Given the description of an element on the screen output the (x, y) to click on. 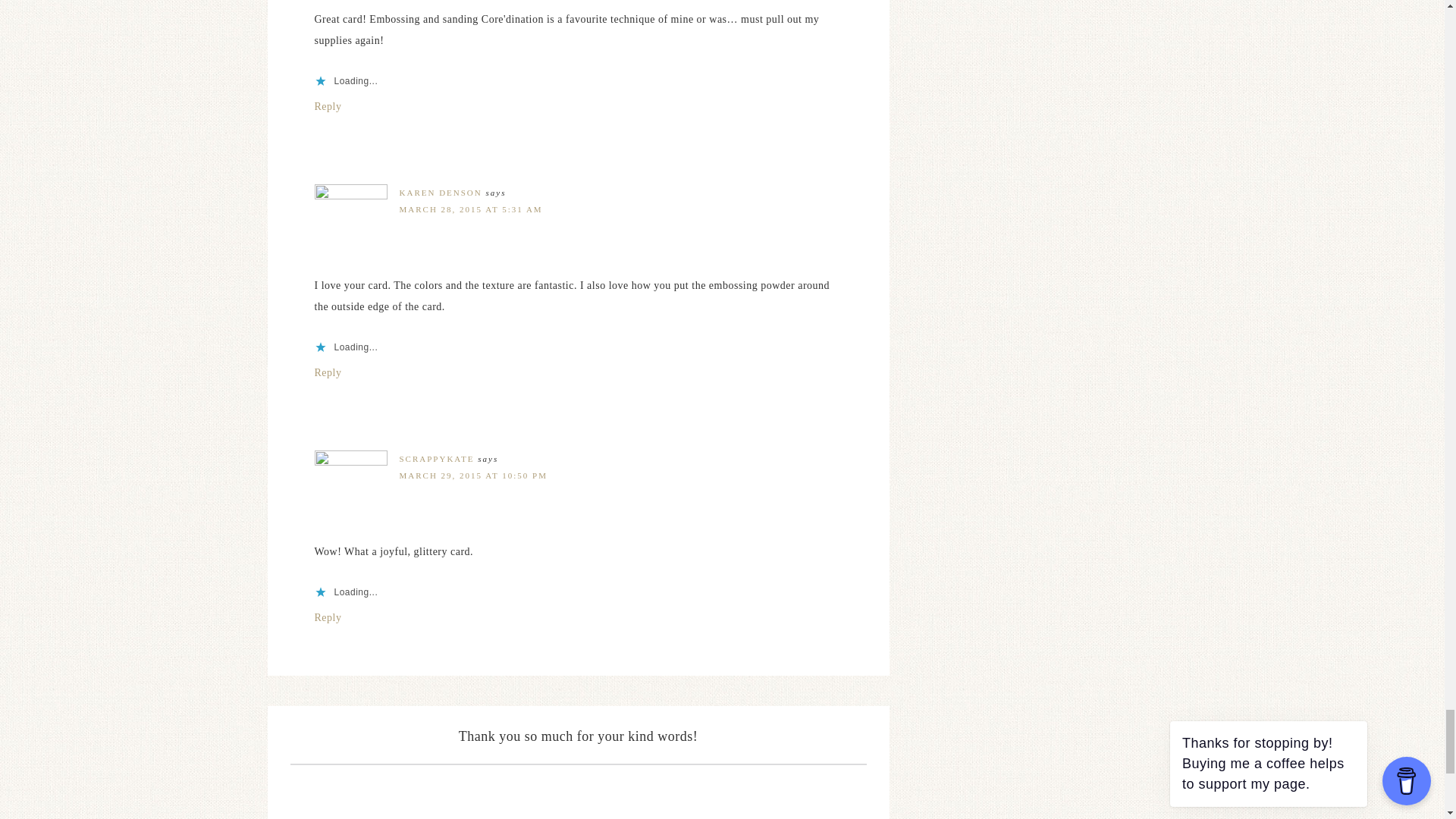
Comment Form (577, 791)
